Given the description of an element on the screen output the (x, y) to click on. 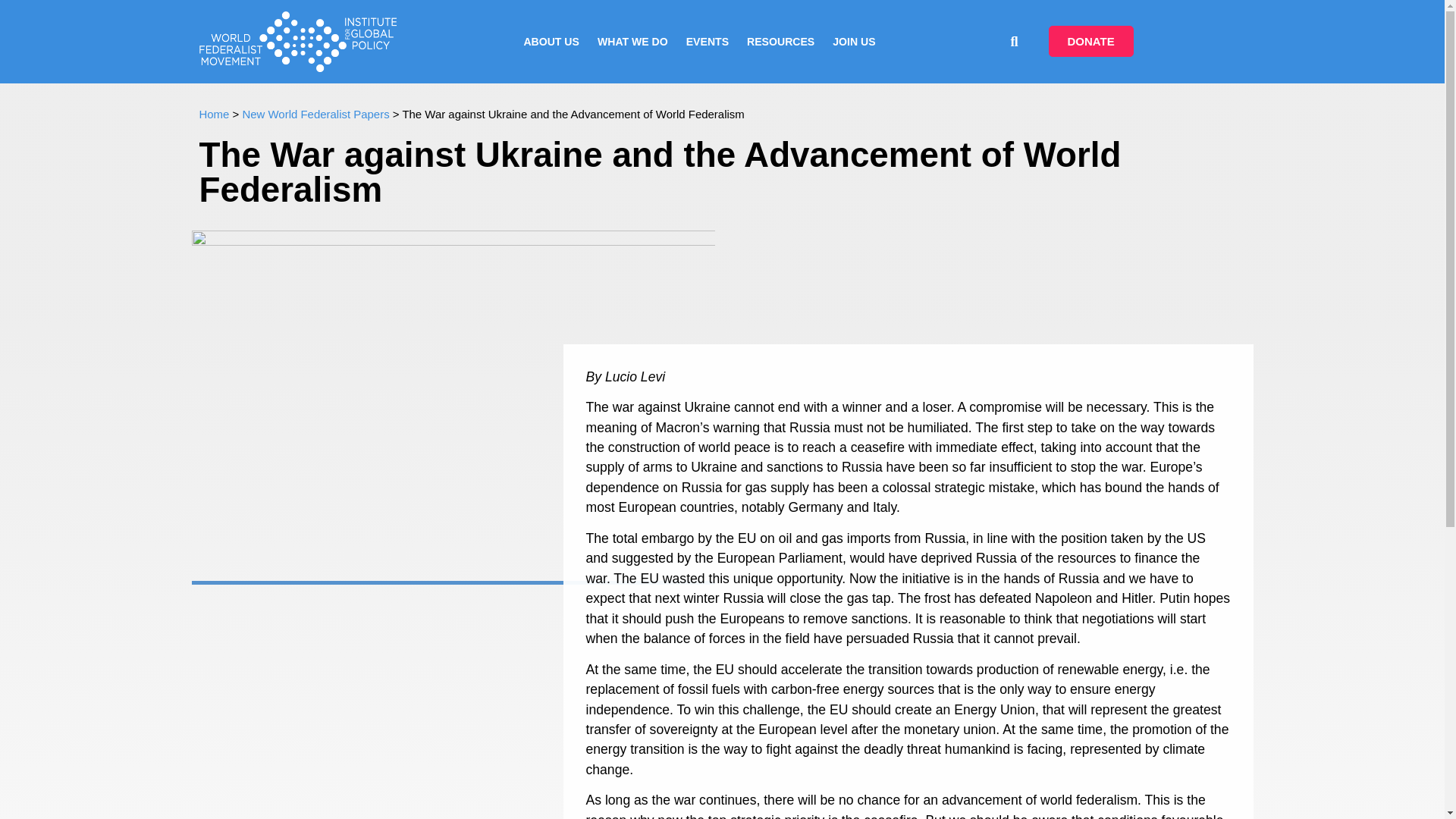
ABOUT US (550, 41)
RESOURCES (781, 41)
EVENTS (707, 41)
JOIN US (853, 41)
WHAT WE DO (632, 41)
